Given the description of an element on the screen output the (x, y) to click on. 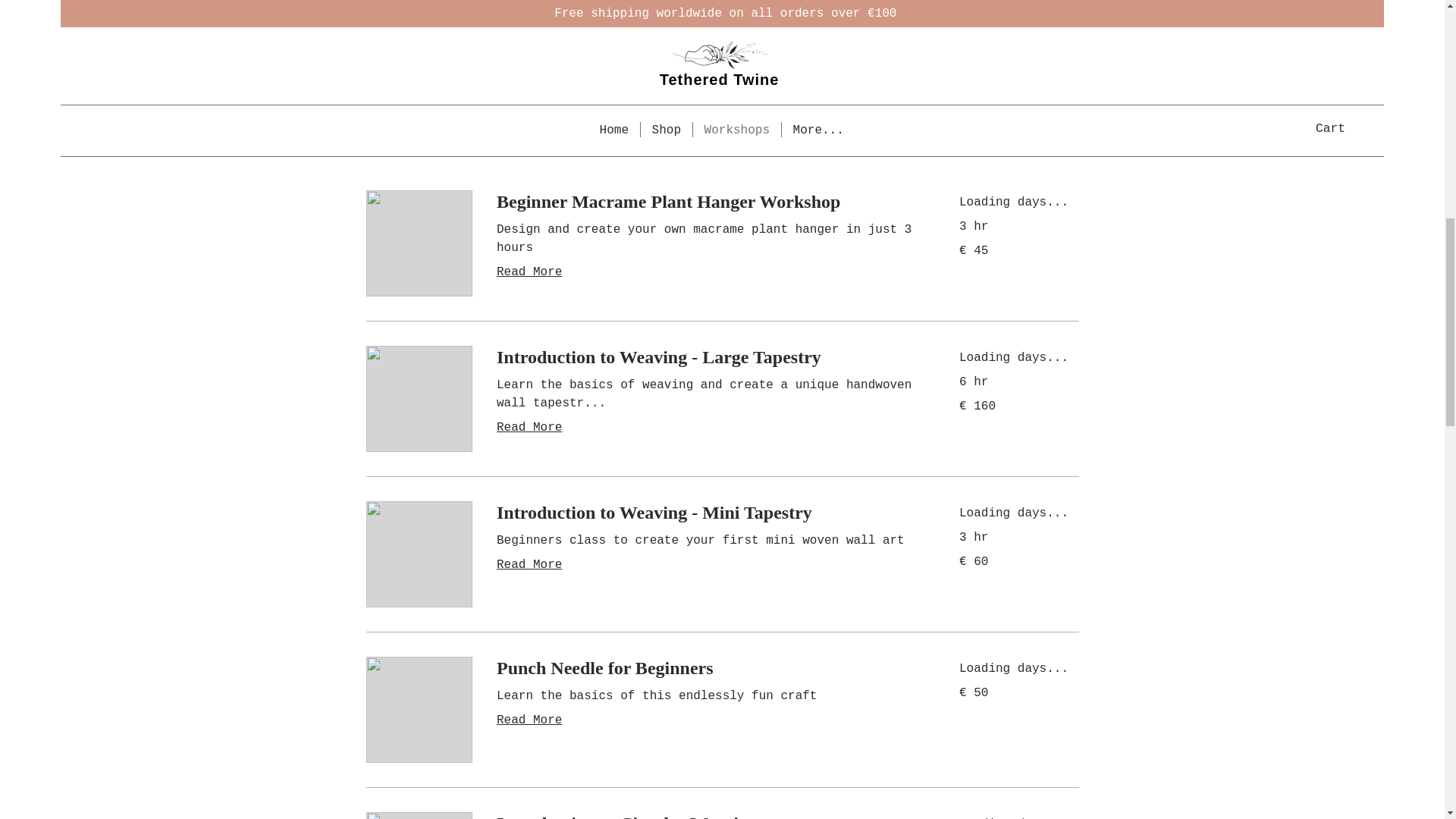
Read More (708, 271)
Introduction to Weaving - Large Tapestry (708, 357)
Introduction to Weaving - Mini Tapestry (708, 513)
Read More (708, 720)
Punch Needle for Beginners (708, 668)
Beginner Macrame Plant Hanger Workshop (708, 202)
Read More (708, 98)
Read More (708, 565)
Introduction to Circular Weaving (708, 815)
Beginner Macrame Wall Hanging Workshop (708, 46)
Read More (708, 427)
